Given the description of an element on the screen output the (x, y) to click on. 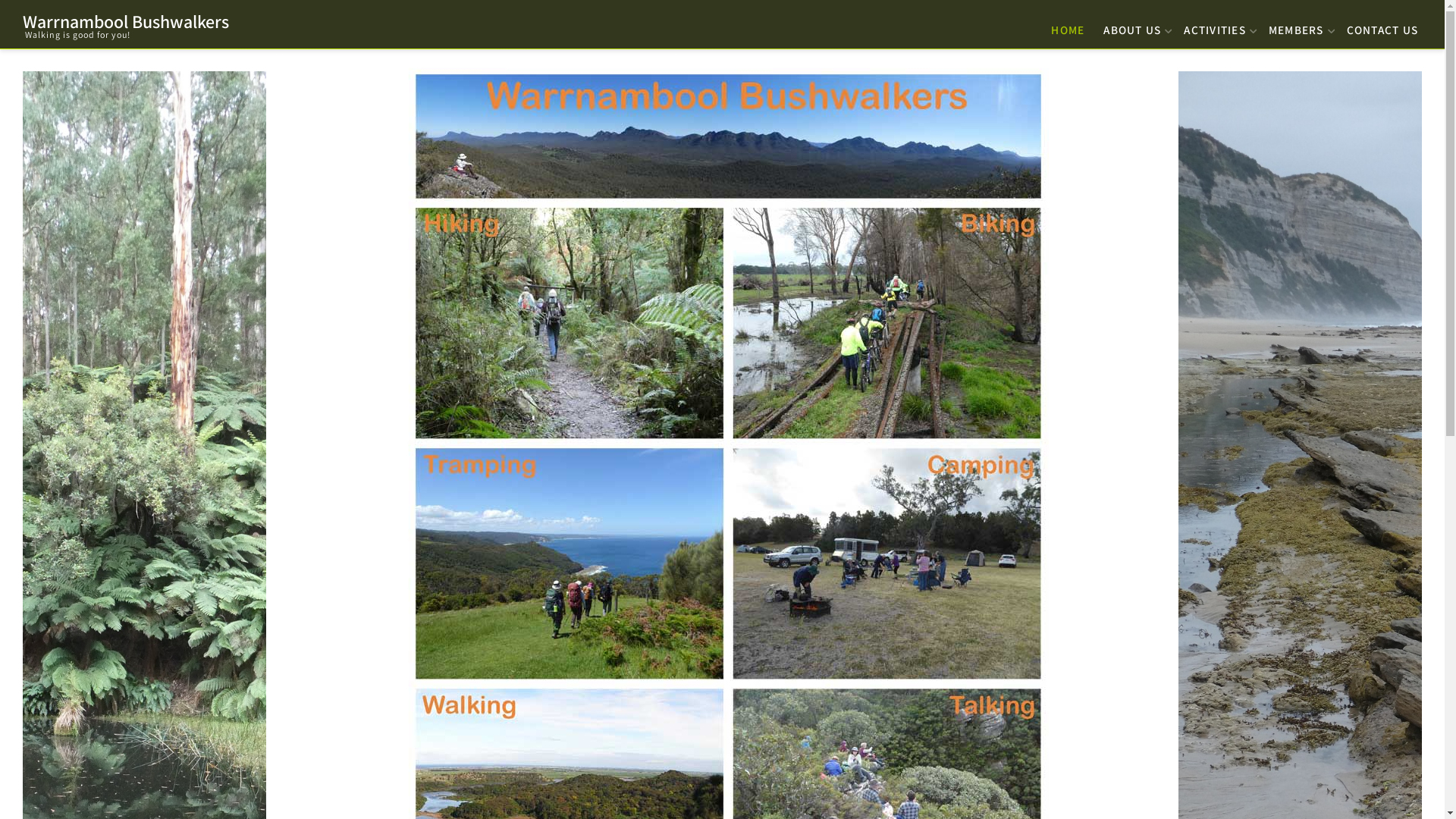
CONTACT US Element type: text (1381, 25)
Warrnambool Bushwalkers
Walking is good for you! Element type: text (125, 25)
HOME Element type: text (1067, 25)
